Given the description of an element on the screen output the (x, y) to click on. 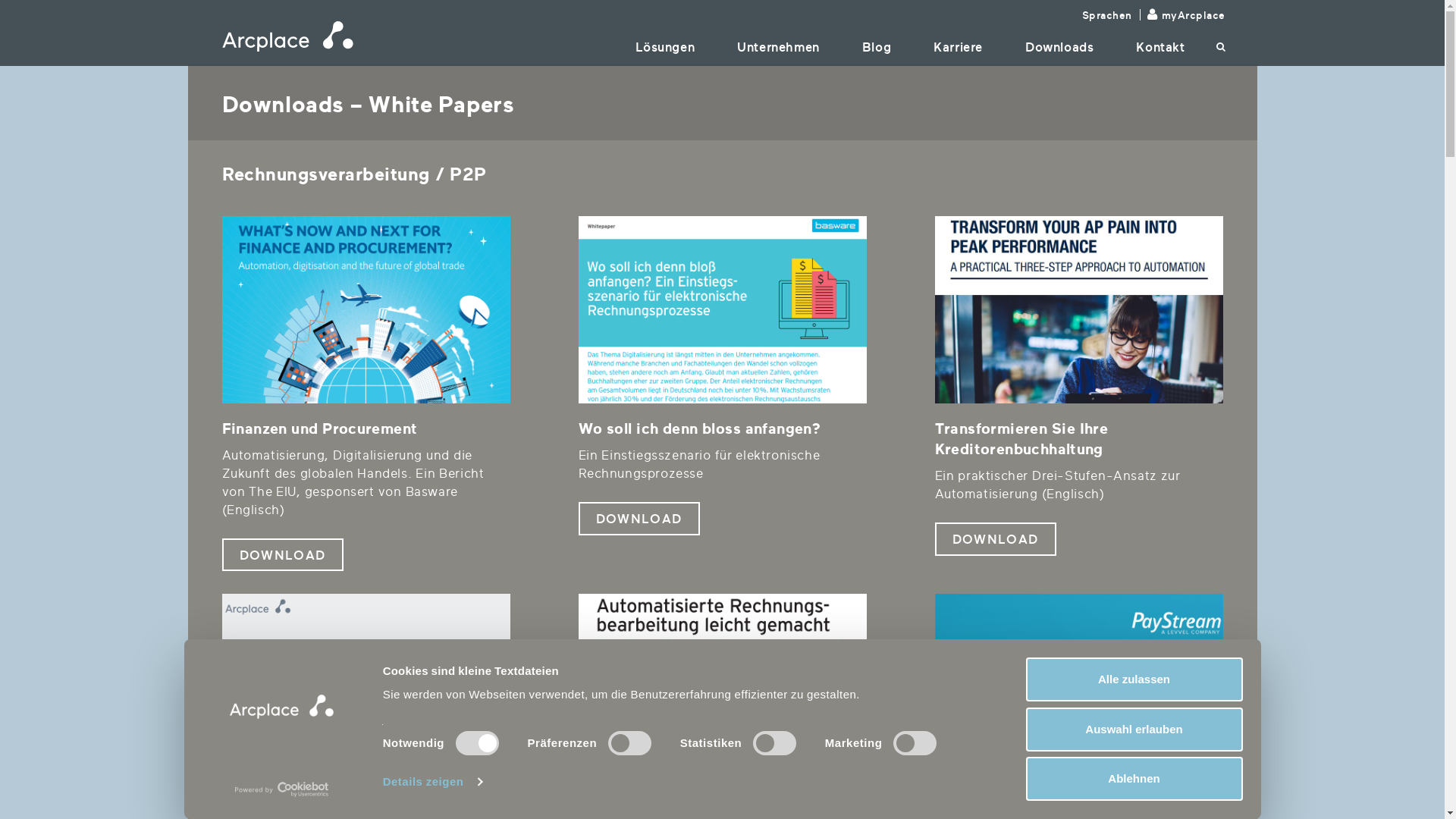
Downloads Element type: text (1059, 46)
myArcplace Element type: text (1193, 15)
Alle zulassen Element type: text (1133, 679)
Details zeigen Element type: text (431, 781)
Rechnungsverarbeitung / P2P Element type: hover (721, 687)
Auswahl erlauben Element type: text (1133, 728)
Rechnungsverarbeitung / P2P Element type: hover (721, 309)
Blog Element type: text (876, 46)
Unternehmen Element type: text (778, 46)
Sprachen Element type: text (1107, 15)
Rechnungsverarbeitung / P2P Element type: hover (1078, 687)
Ablehnen Element type: text (1133, 778)
Kontakt Element type: text (1159, 46)
Rechnungsverarbeitung / P2P Element type: hover (1078, 309)
Karriere Element type: text (957, 46)
Rechnungsverarbeitung / P2P Element type: hover (365, 309)
Rechnungsverarbeitung / P2P Element type: hover (365, 687)
